Given the description of an element on the screen output the (x, y) to click on. 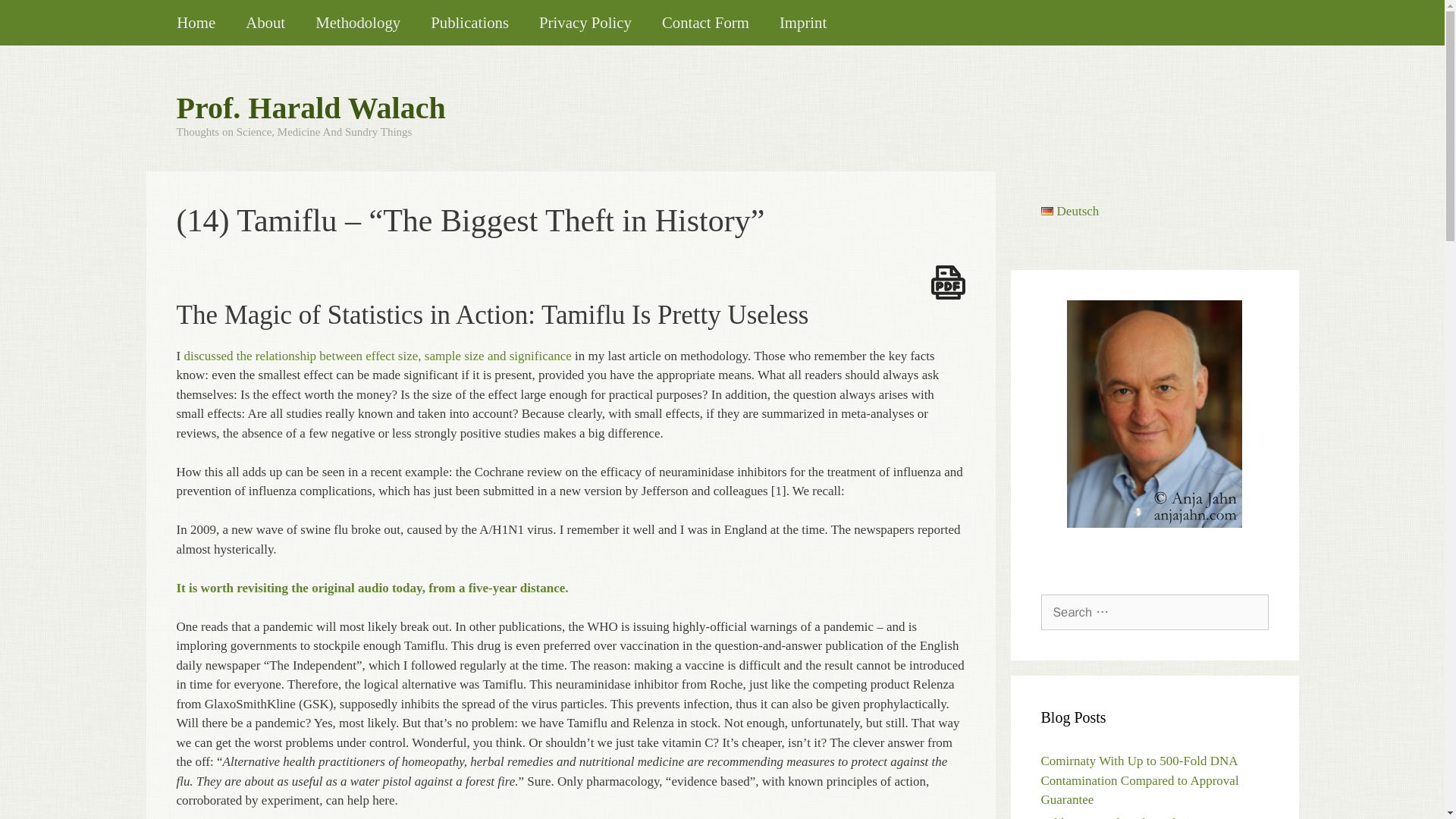
Imprint (802, 22)
Methodology (356, 22)
Search for: (1154, 612)
Search (35, 18)
Deutsch (1070, 210)
Home (195, 22)
Privacy Policy (585, 22)
About (264, 22)
Publications (469, 22)
Generate PDF (948, 282)
Prof. Harald Walach (310, 107)
Contact Form (705, 22)
